Given the description of an element on the screen output the (x, y) to click on. 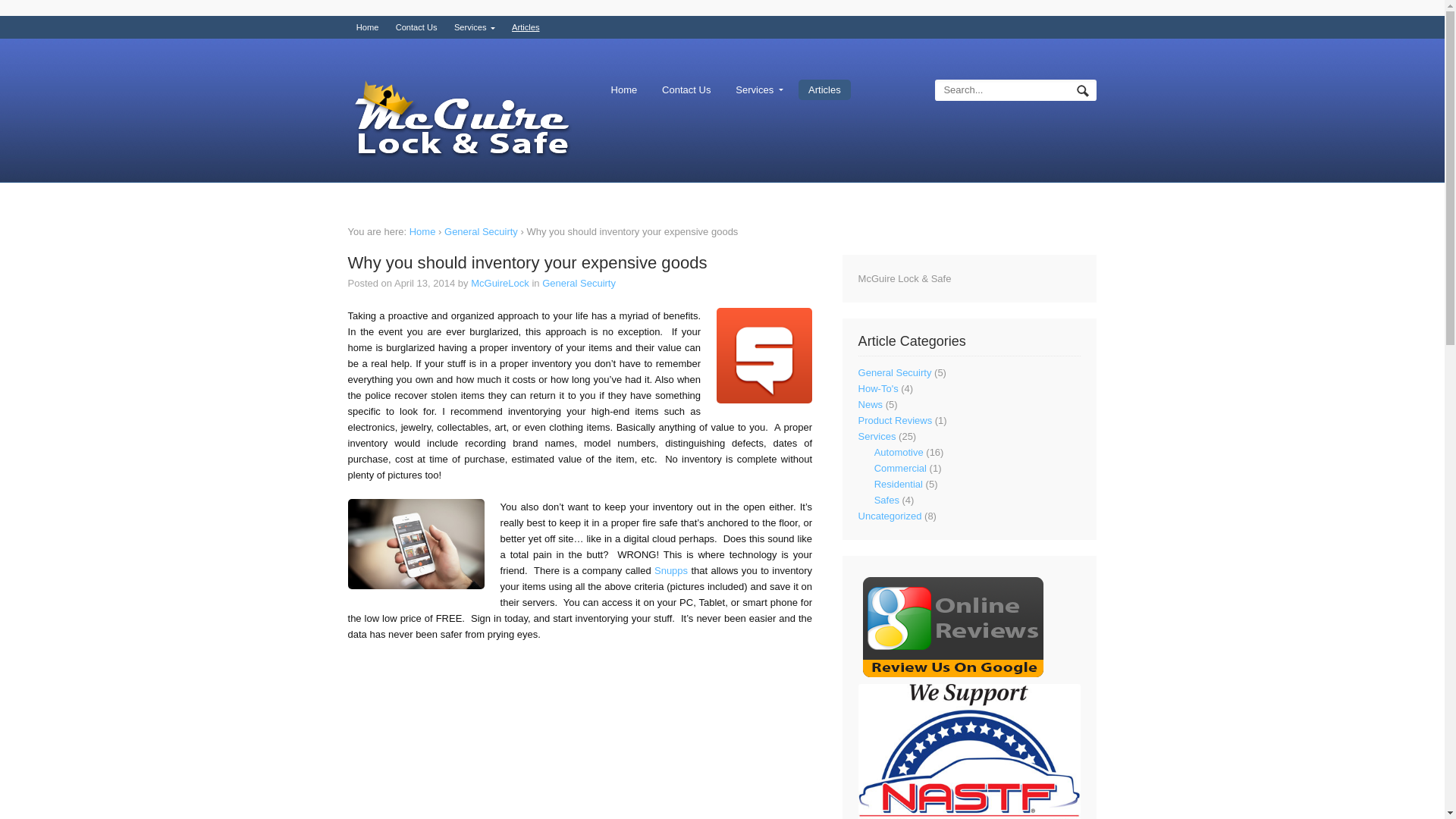
Home (422, 231)
Articles (525, 26)
Articles (823, 89)
Search (1084, 92)
Home (367, 26)
Posts by McGuireLock (499, 283)
Home (624, 89)
Your Kansas City Locksmith since 1969! (461, 120)
Search (1084, 92)
Contact Us (686, 89)
McGuireLock (499, 283)
General Secuirty (481, 231)
Snupps (670, 570)
McGuire Lock (422, 231)
Services (759, 89)
